Given the description of an element on the screen output the (x, y) to click on. 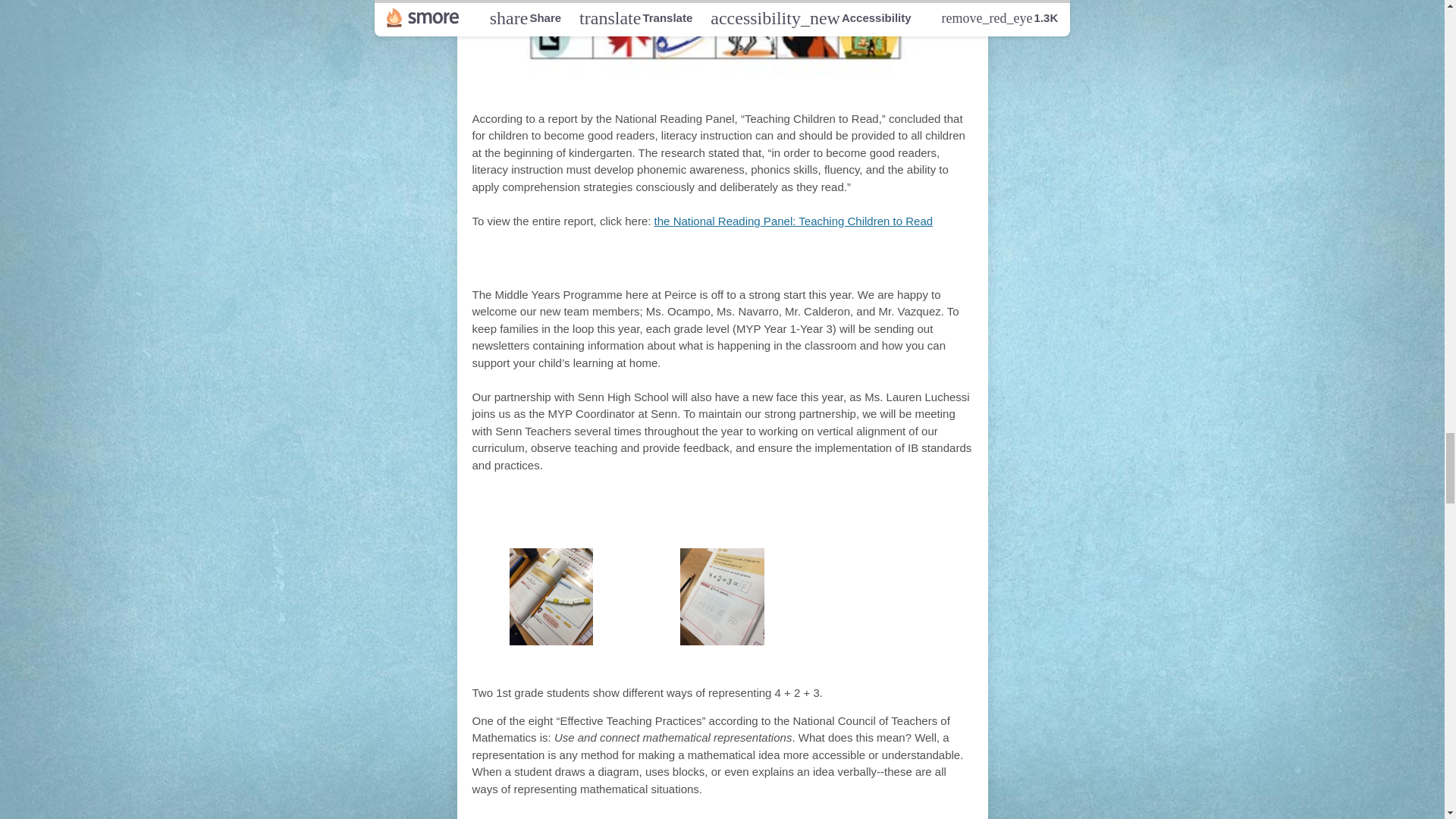
Middle (632, 263)
Years (698, 263)
Peirce (765, 507)
the National Reading Panel: Teaching Children to Read (793, 220)
at (721, 507)
Math (679, 507)
Programme (788, 263)
